Given the description of an element on the screen output the (x, y) to click on. 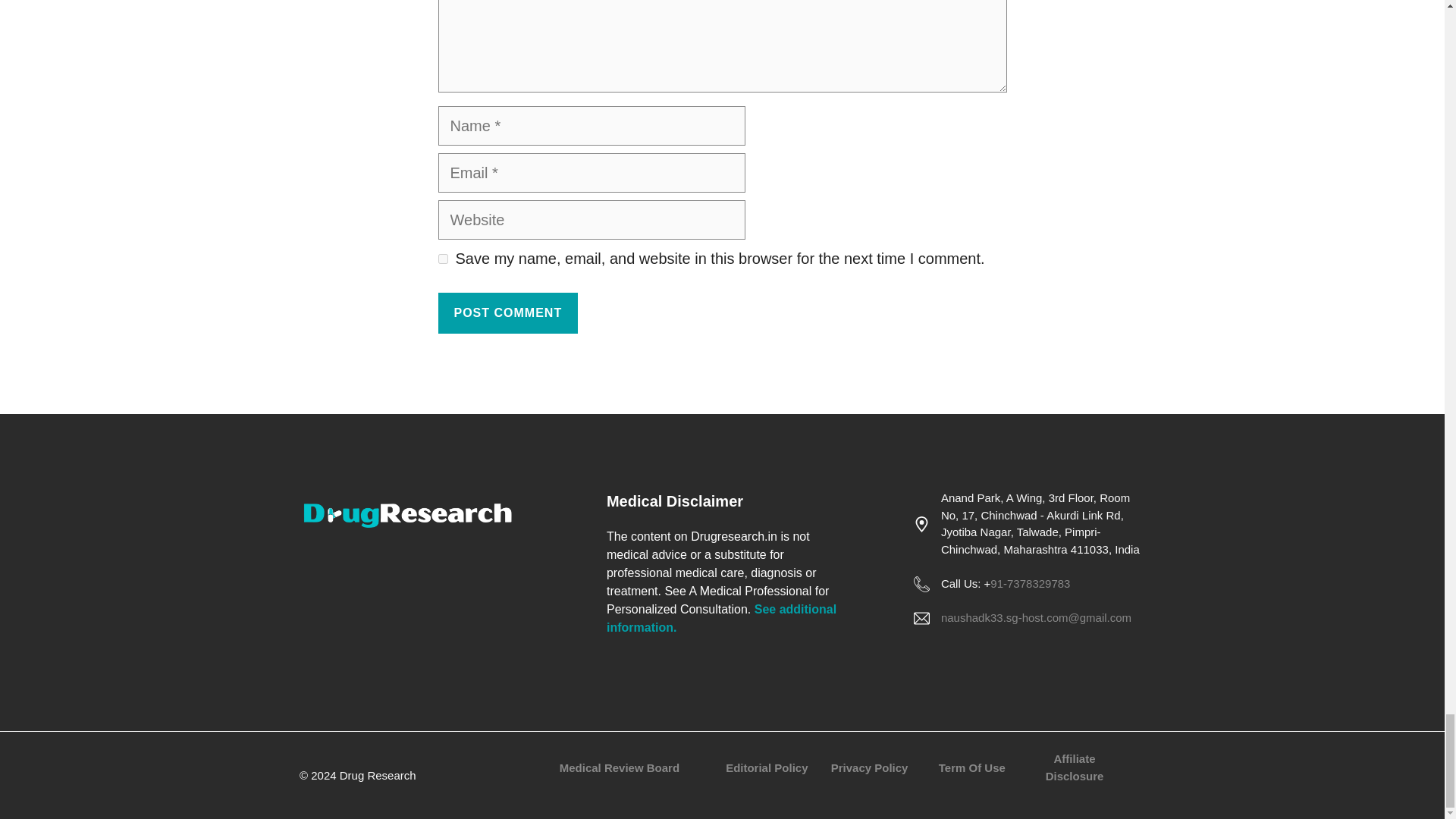
See additional information. (721, 617)
yes (443, 258)
Editorial Policy (766, 767)
Medical Review Board (619, 767)
Post Comment (508, 312)
Term Of Use (972, 767)
Post Comment (508, 312)
Affiliate Disclosure (1074, 767)
Privacy Policy (869, 767)
91-7378329783 (1030, 583)
